Given the description of an element on the screen output the (x, y) to click on. 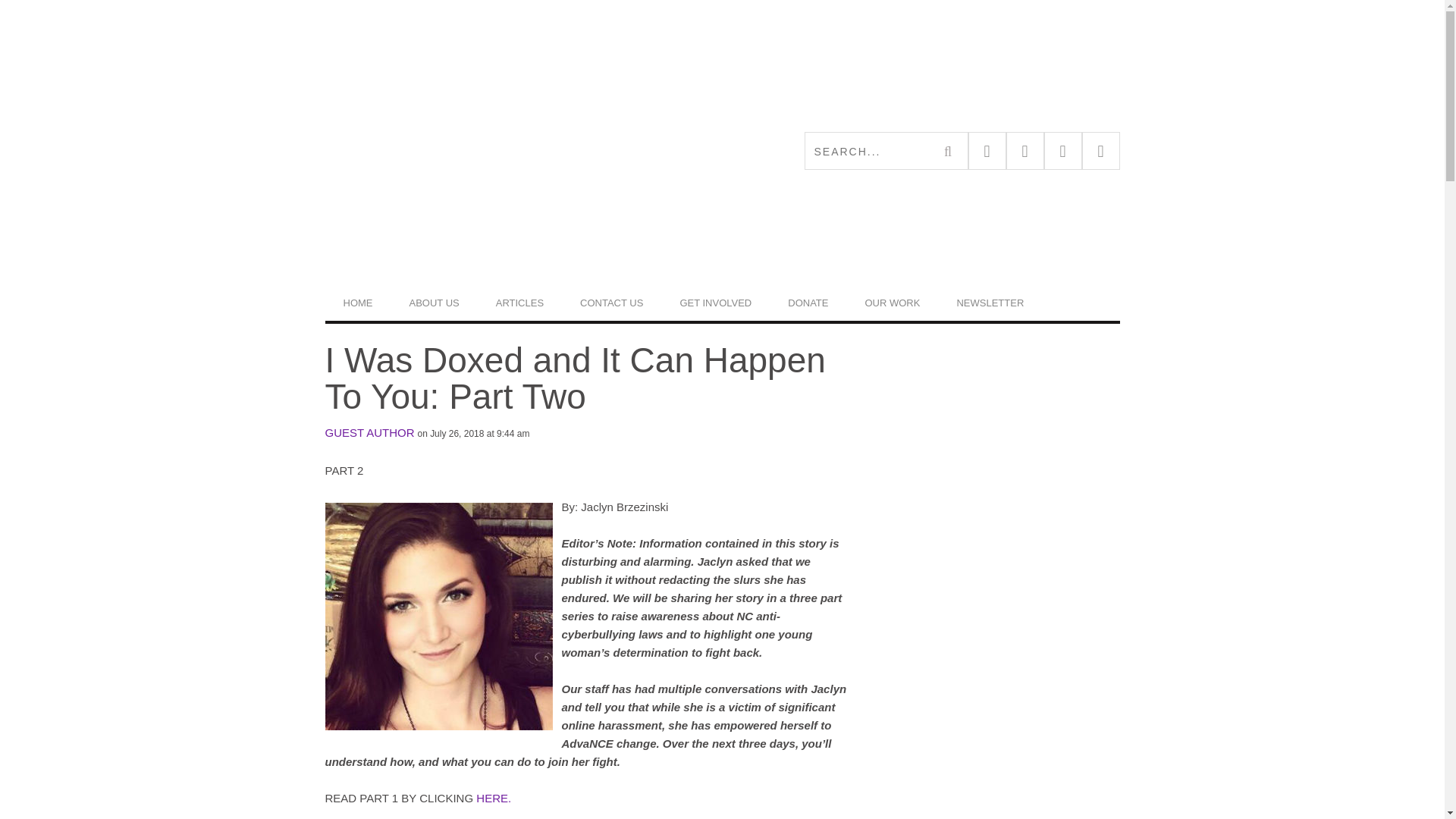
Posts by Guest Author (368, 431)
HOME (357, 302)
Women AdvaNCe (523, 150)
ABOUT US (434, 302)
